Given the description of an element on the screen output the (x, y) to click on. 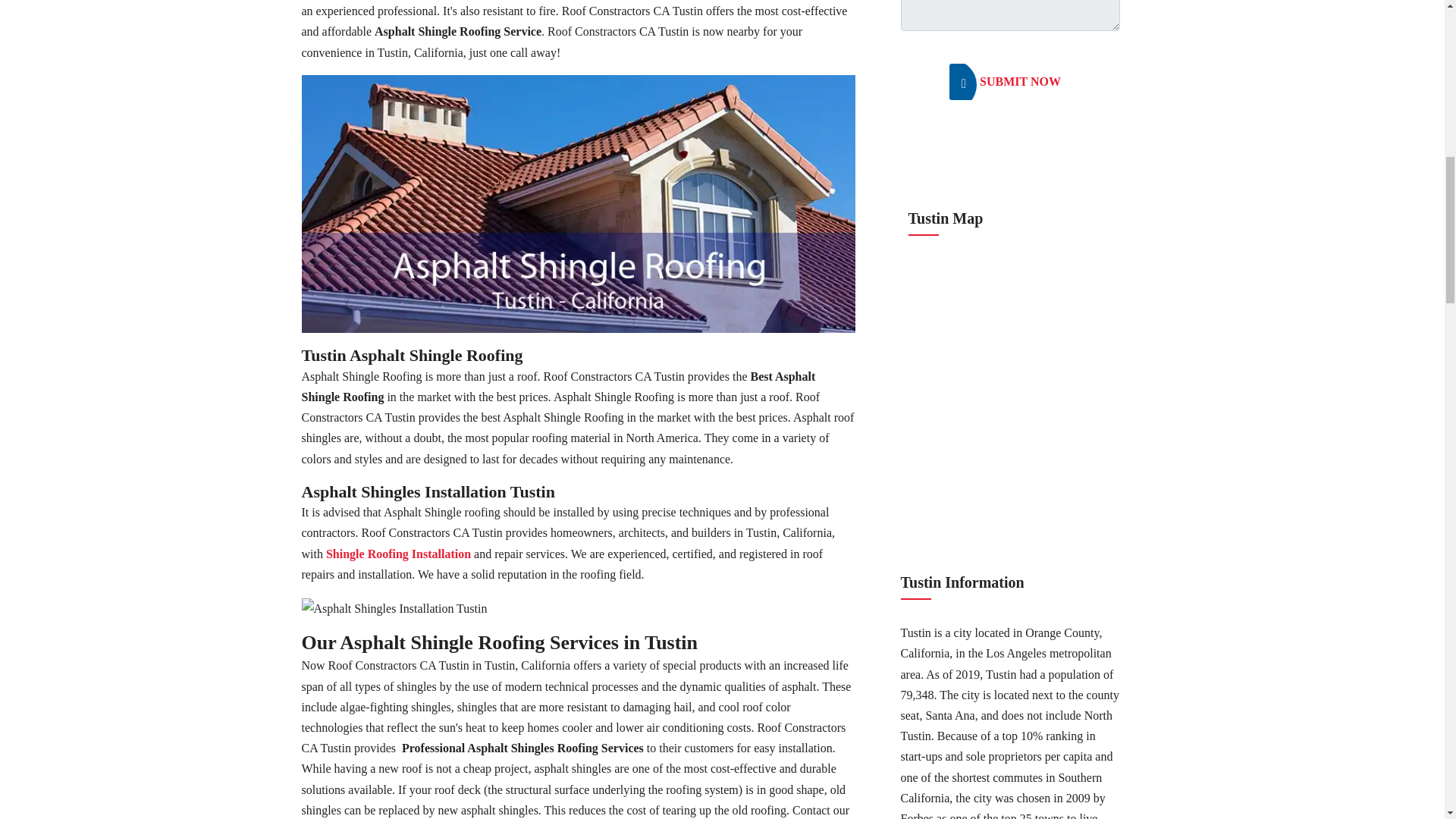
SUBMIT NOW (1010, 81)
Shingle Roofing Installation (398, 553)
